Given the description of an element on the screen output the (x, y) to click on. 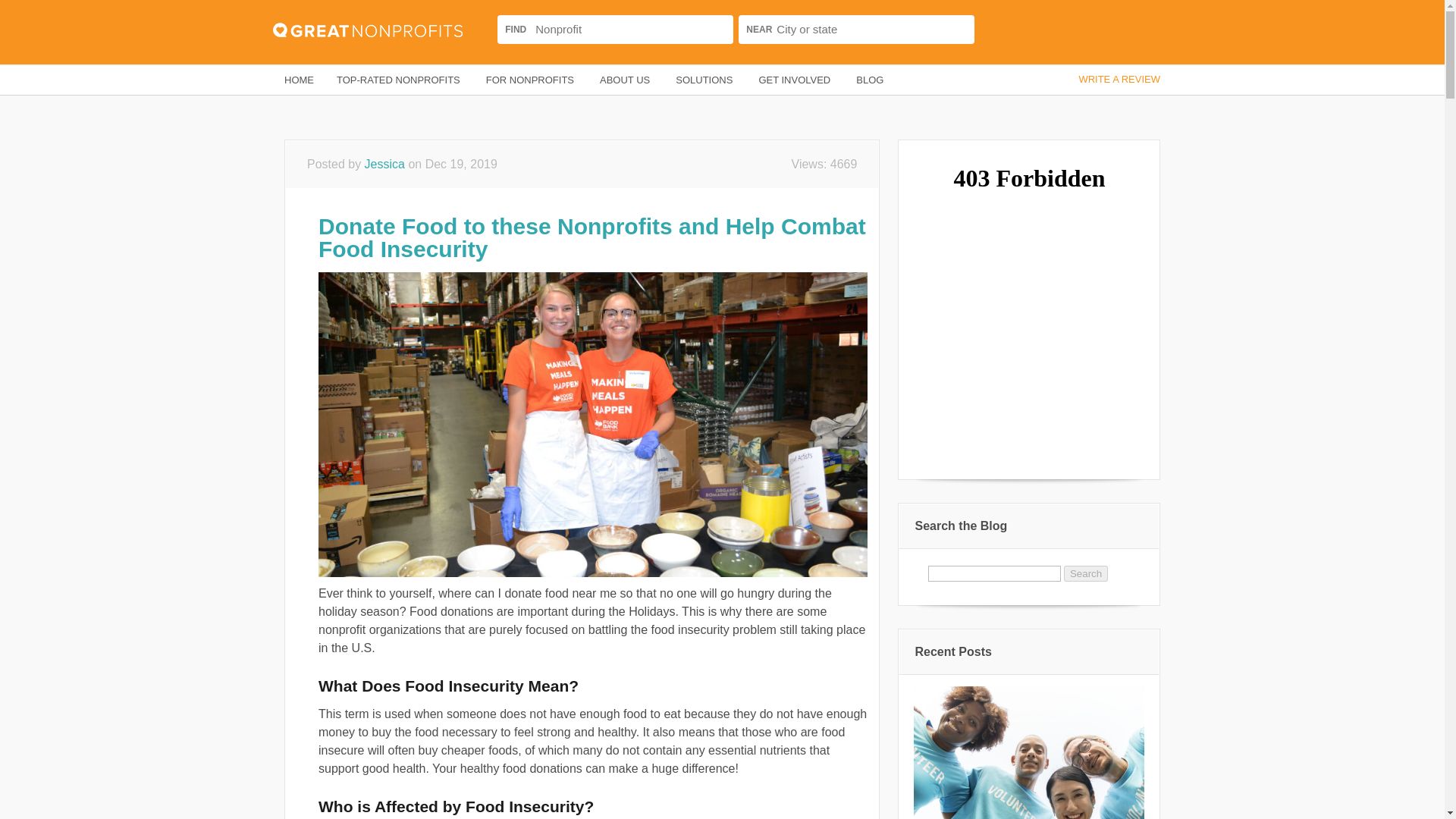
Search (1002, 30)
TOP-RATED NONPROFITS (399, 80)
Posts by Jessica (384, 164)
ABOUT US (625, 80)
SOLUTIONS (704, 80)
GET INVOLVED (795, 80)
Newsletter Subscription (1028, 317)
FOR NONPROFITS (531, 80)
GreatNonprofits (385, 29)
HOME (298, 80)
Search (1086, 573)
